Given the description of an element on the screen output the (x, y) to click on. 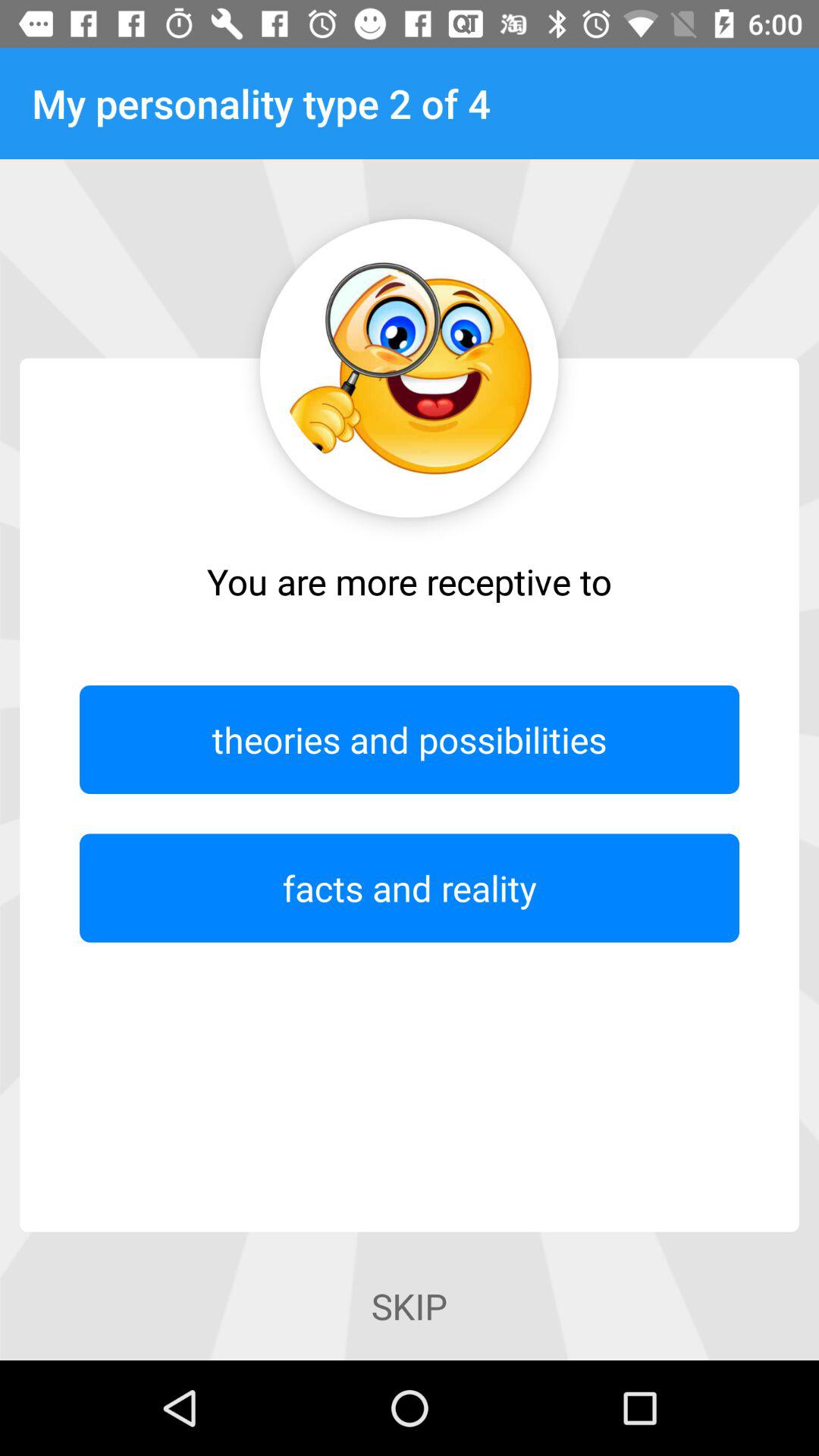
scroll to the facts and reality (409, 887)
